Given the description of an element on the screen output the (x, y) to click on. 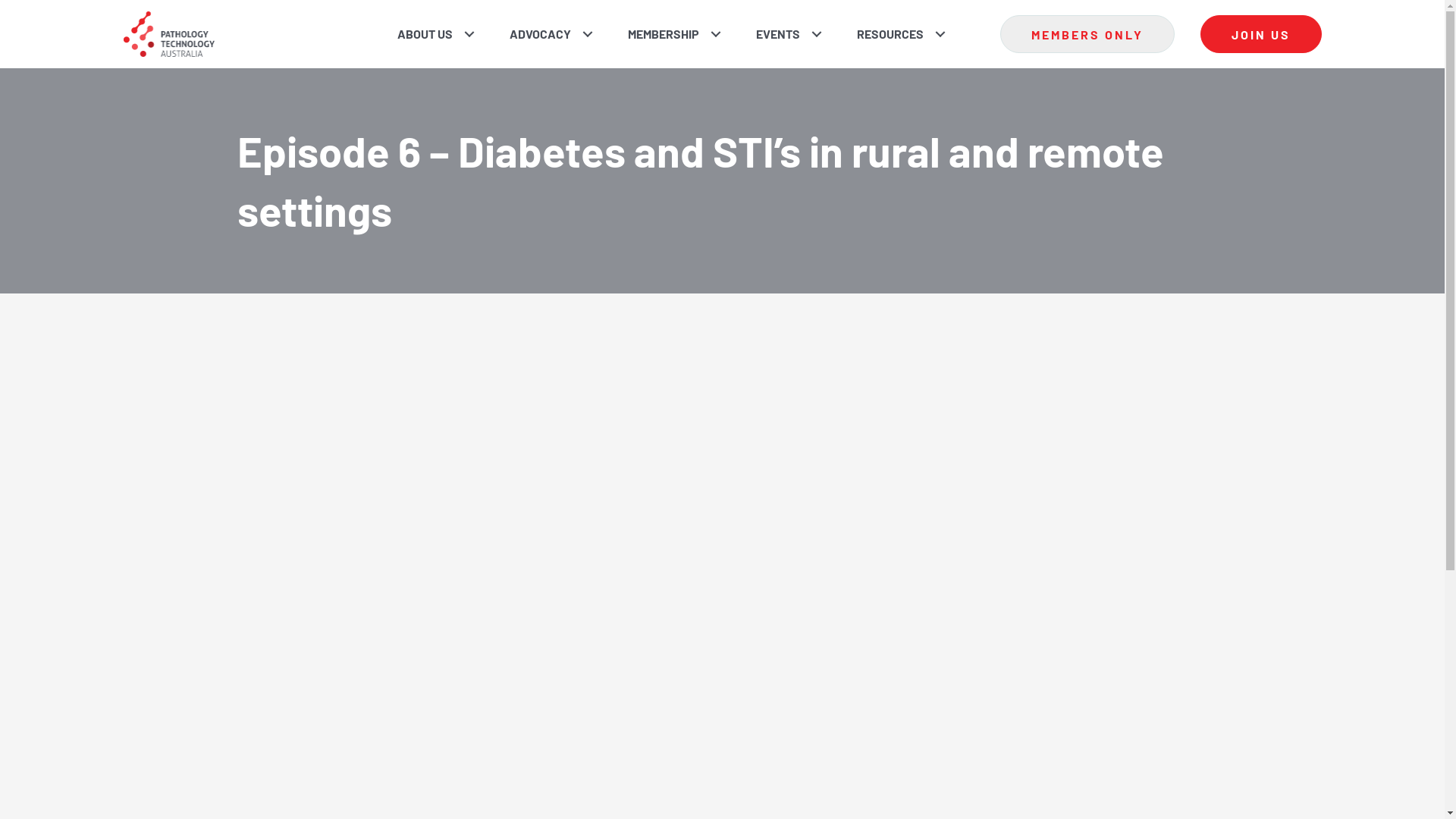
MEMBERSHIP Element type: text (668, 33)
EVENTS Element type: text (783, 33)
RESOURCES Element type: text (895, 33)
logo Element type: hover (167, 33)
ABOUT US Element type: text (430, 33)
ADVOCACY Element type: text (545, 33)
JOIN US Element type: text (1260, 34)
MEMBERS ONLY Element type: text (1087, 34)
